Given the description of an element on the screen output the (x, y) to click on. 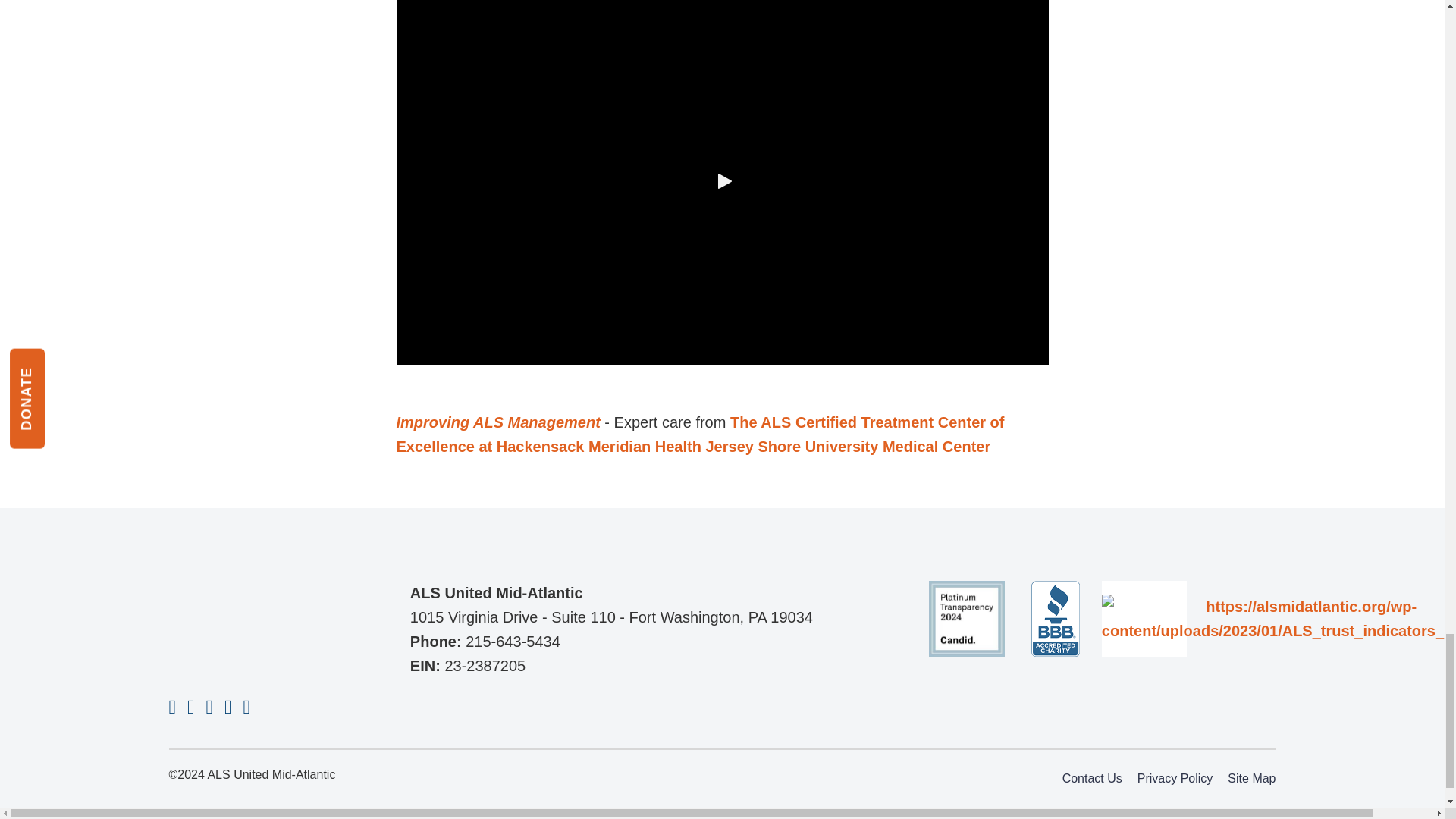
ALS United Mid-Atlantic (244, 620)
